Given the description of an element on the screen output the (x, y) to click on. 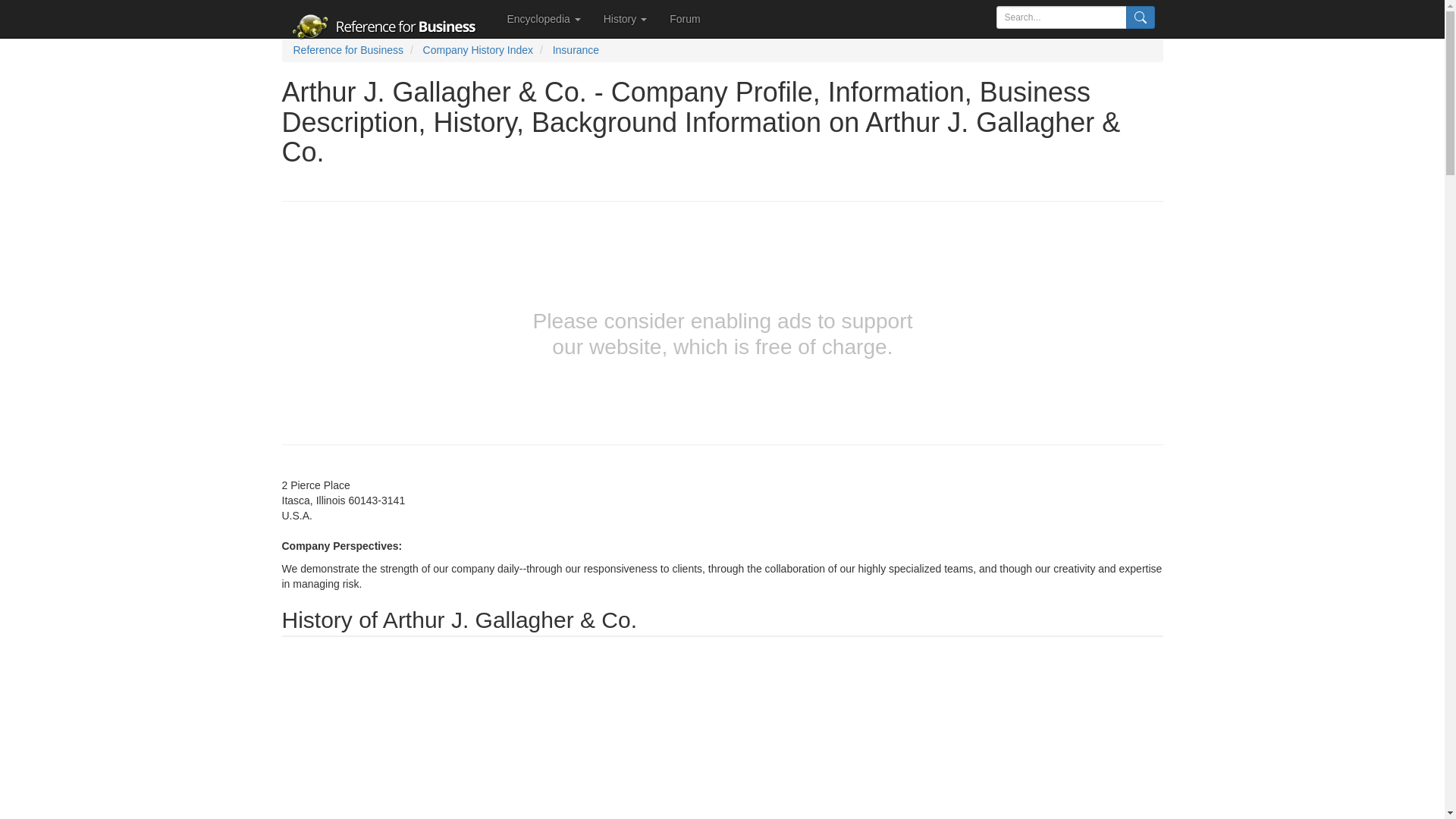
Reference for Business (347, 50)
Encyclopedia (544, 18)
Forum (684, 18)
Company History Index (478, 50)
History (625, 18)
Insurance (575, 50)
